Given the description of an element on the screen output the (x, y) to click on. 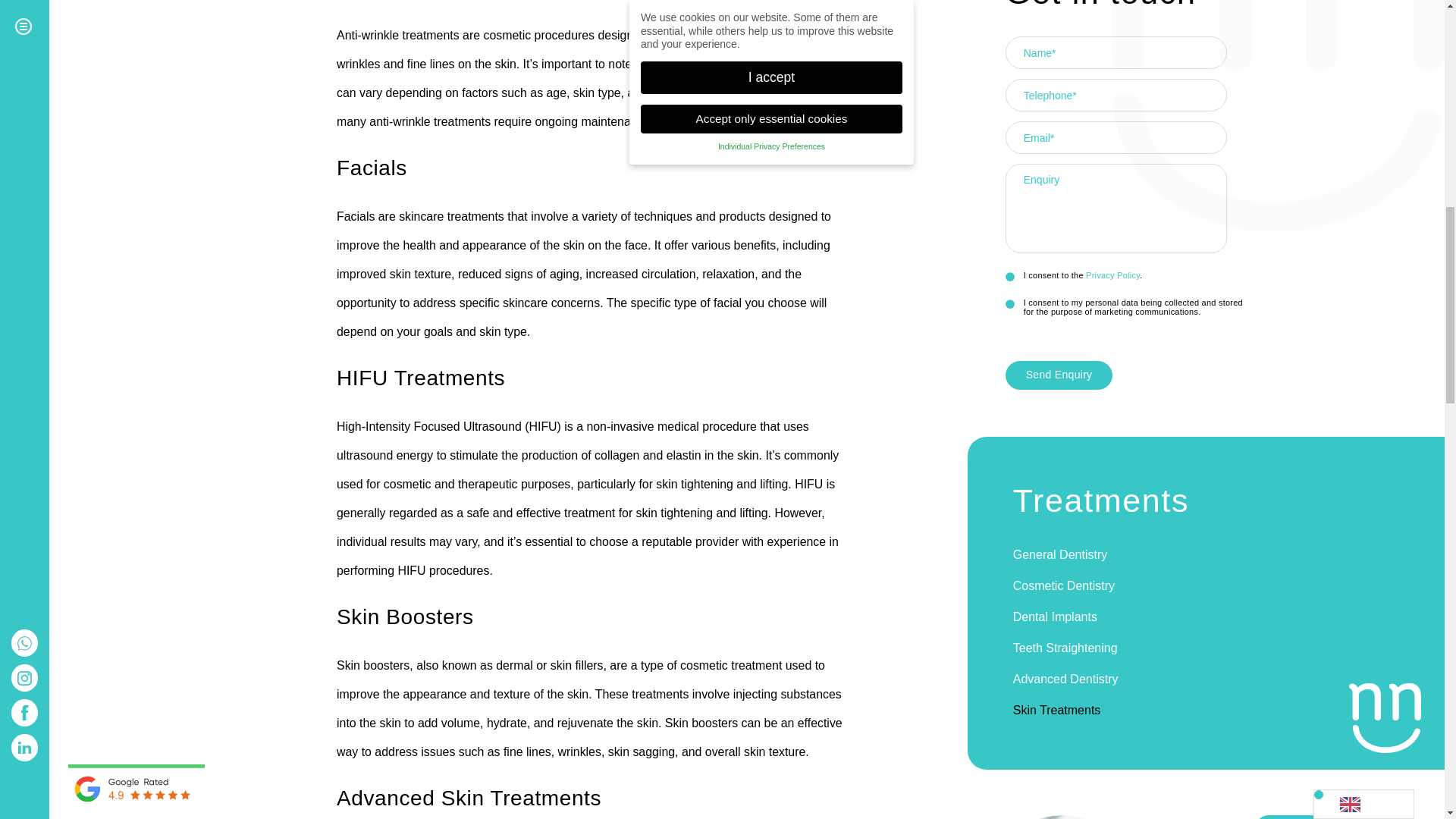
I consent (1010, 276)
I consent (1010, 304)
Send Enquiry (1059, 375)
